Given the description of an element on the screen output the (x, y) to click on. 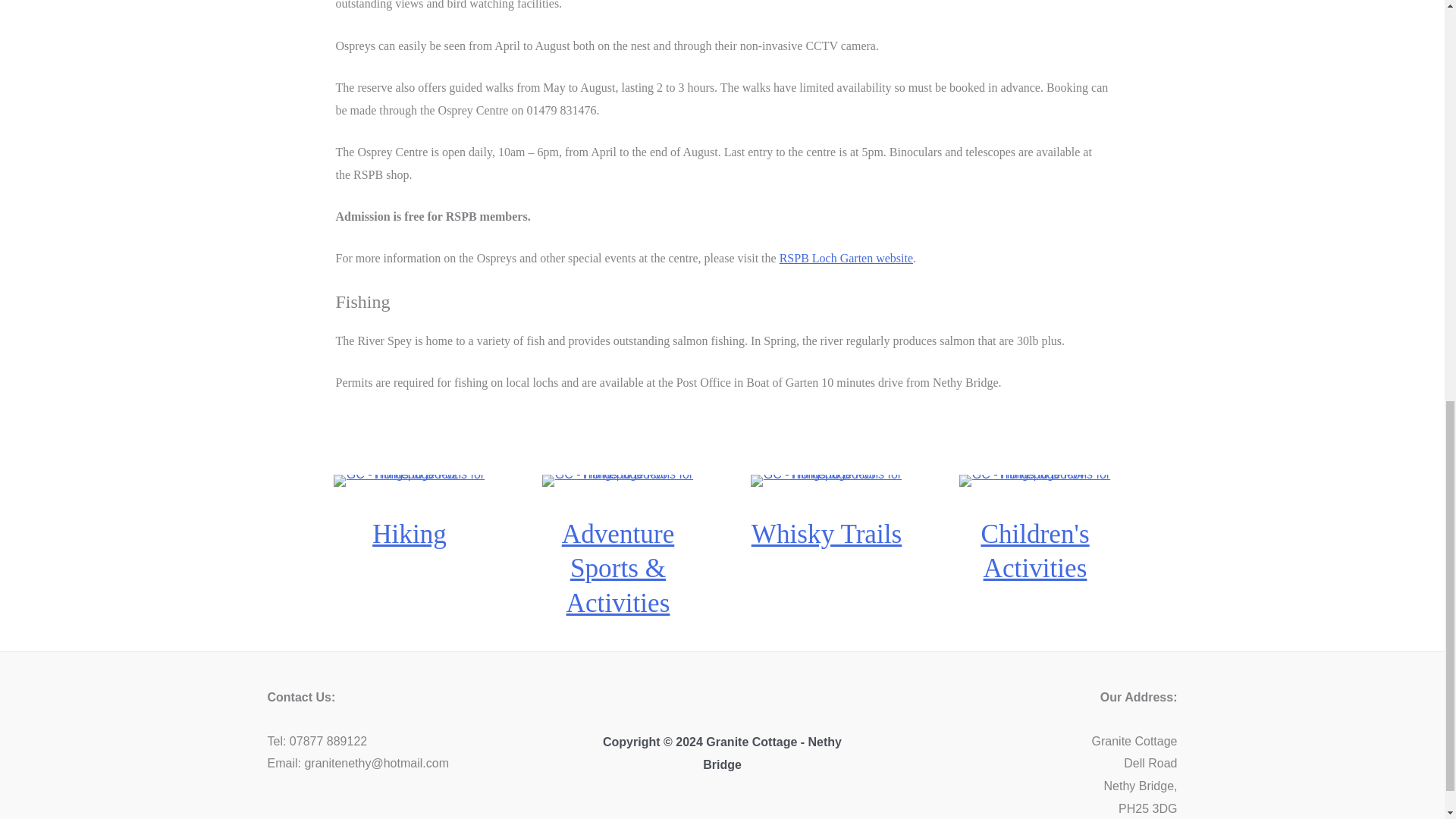
GC - Homepage Icons for Things to Do-03 (617, 480)
GC - Homepage Icons for Things to Do-05 (826, 480)
Whisky Trails (826, 533)
Hiking (409, 533)
Children's Activities (1034, 551)
RSPB Loch Garten website (845, 257)
GC - Homepage Icons for Things to Do-04 (1034, 480)
Whisky Trails (826, 533)
Hiking (409, 533)
GC - Homepage Icons for Things to Do-02 (408, 480)
